Given the description of an element on the screen output the (x, y) to click on. 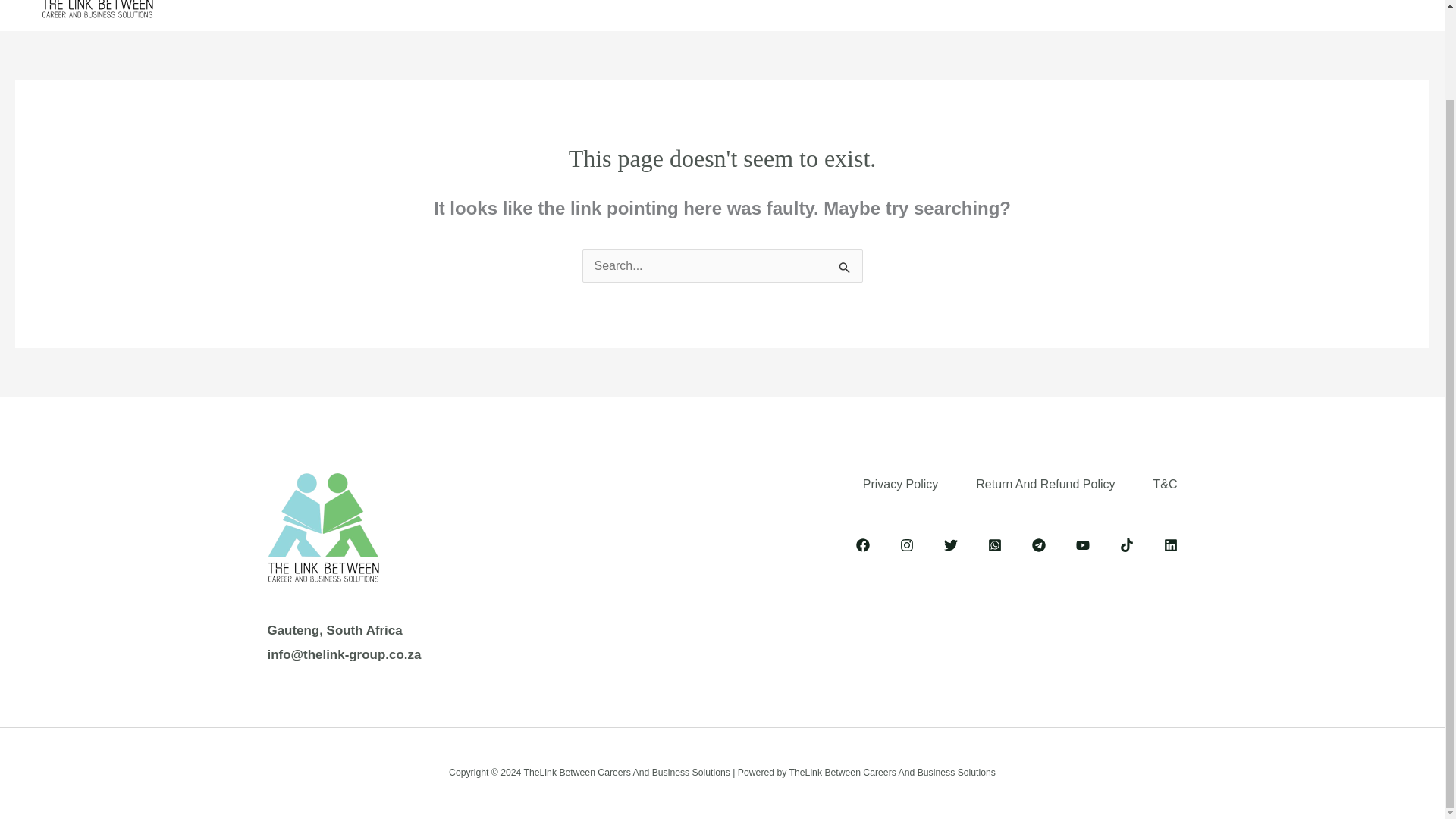
CONTACT (996, 4)
PORTFOLIO (833, 4)
ABOUT (511, 4)
HOME (439, 4)
SERVICES (601, 4)
SHOP (917, 4)
